Given the description of an element on the screen output the (x, y) to click on. 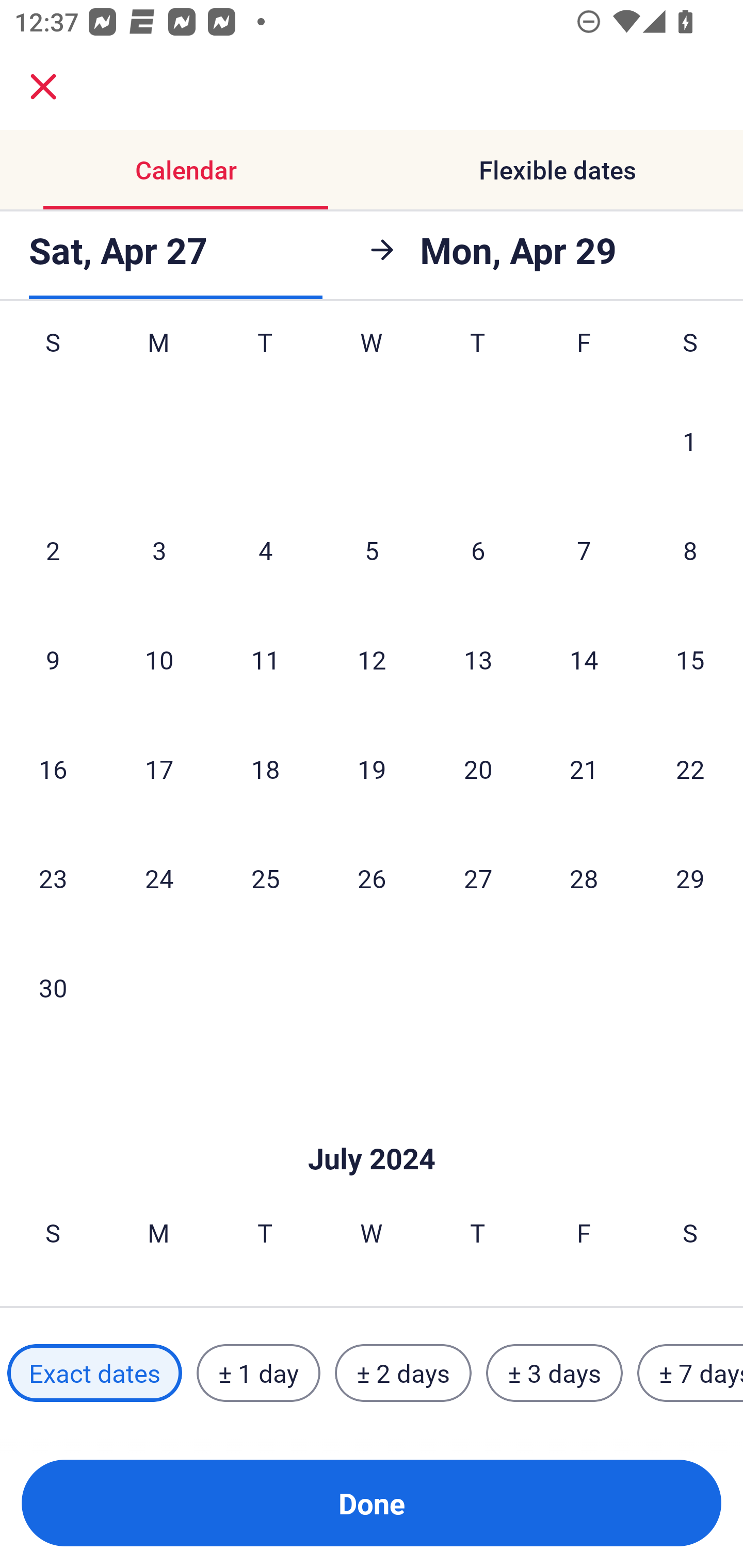
close. (43, 86)
Flexible dates (557, 170)
1 Saturday, June 1, 2024 (689, 440)
2 Sunday, June 2, 2024 (53, 550)
3 Monday, June 3, 2024 (159, 550)
4 Tuesday, June 4, 2024 (265, 550)
5 Wednesday, June 5, 2024 (371, 550)
6 Thursday, June 6, 2024 (477, 550)
7 Friday, June 7, 2024 (584, 550)
8 Saturday, June 8, 2024 (690, 550)
9 Sunday, June 9, 2024 (53, 658)
10 Monday, June 10, 2024 (159, 658)
11 Tuesday, June 11, 2024 (265, 658)
12 Wednesday, June 12, 2024 (371, 658)
13 Thursday, June 13, 2024 (477, 658)
14 Friday, June 14, 2024 (584, 658)
15 Saturday, June 15, 2024 (690, 658)
16 Sunday, June 16, 2024 (53, 768)
17 Monday, June 17, 2024 (159, 768)
18 Tuesday, June 18, 2024 (265, 768)
19 Wednesday, June 19, 2024 (371, 768)
20 Thursday, June 20, 2024 (477, 768)
21 Friday, June 21, 2024 (584, 768)
22 Saturday, June 22, 2024 (690, 768)
23 Sunday, June 23, 2024 (53, 877)
24 Monday, June 24, 2024 (159, 877)
25 Tuesday, June 25, 2024 (265, 877)
26 Wednesday, June 26, 2024 (371, 877)
27 Thursday, June 27, 2024 (477, 877)
28 Friday, June 28, 2024 (584, 877)
29 Saturday, June 29, 2024 (690, 877)
30 Sunday, June 30, 2024 (53, 986)
Skip to Done (371, 1128)
Exact dates (94, 1372)
± 1 day (258, 1372)
± 2 days (403, 1372)
± 3 days (553, 1372)
± 7 days (690, 1372)
Done (371, 1502)
